Given the description of an element on the screen output the (x, y) to click on. 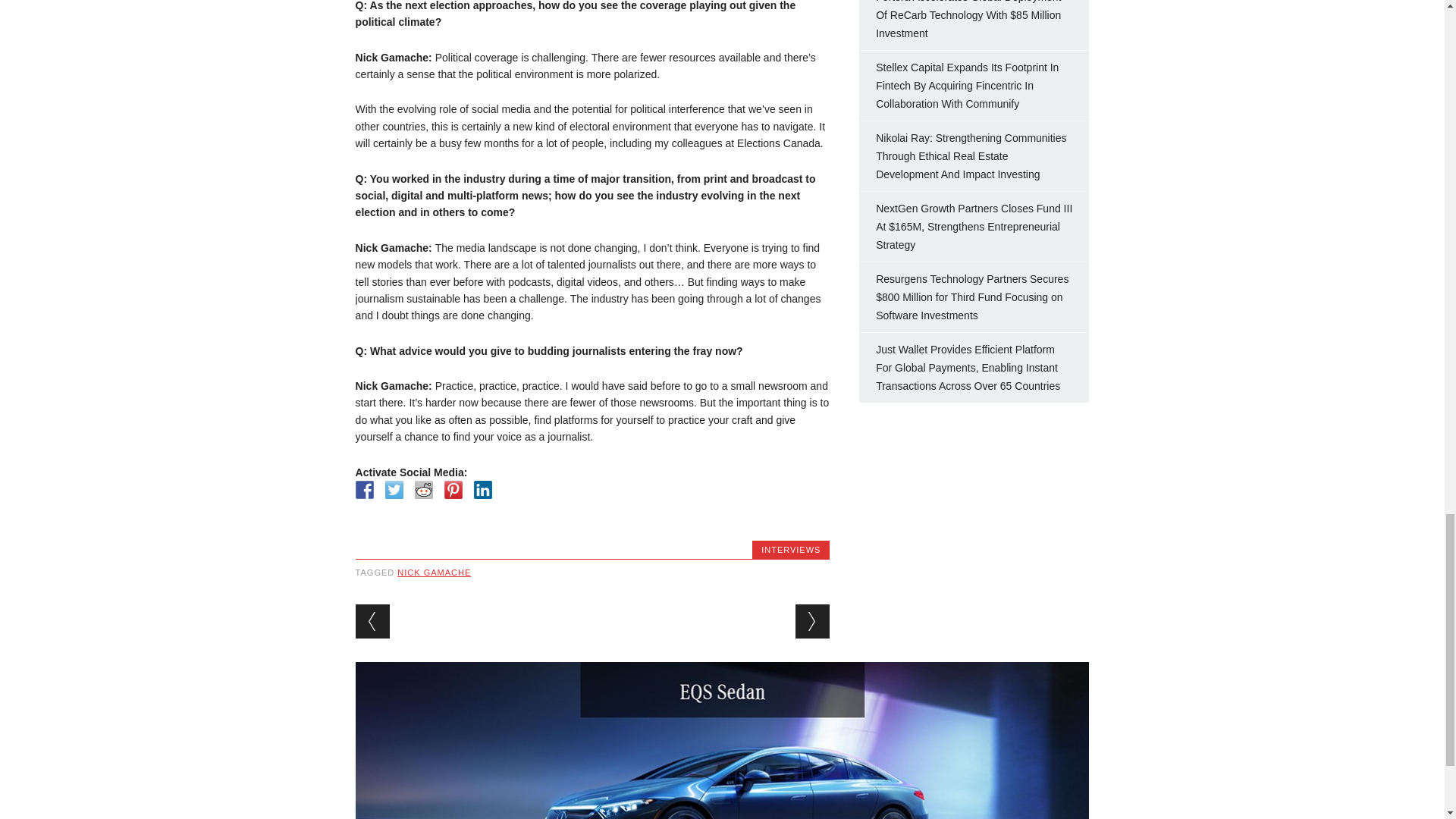
Share on Facebook (364, 489)
Pin it with Pinterest (453, 489)
Share on Reddit (423, 489)
Share on Linkedin (483, 489)
Share on Twitter (394, 489)
INTERVIEWS (791, 549)
